Given the description of an element on the screen output the (x, y) to click on. 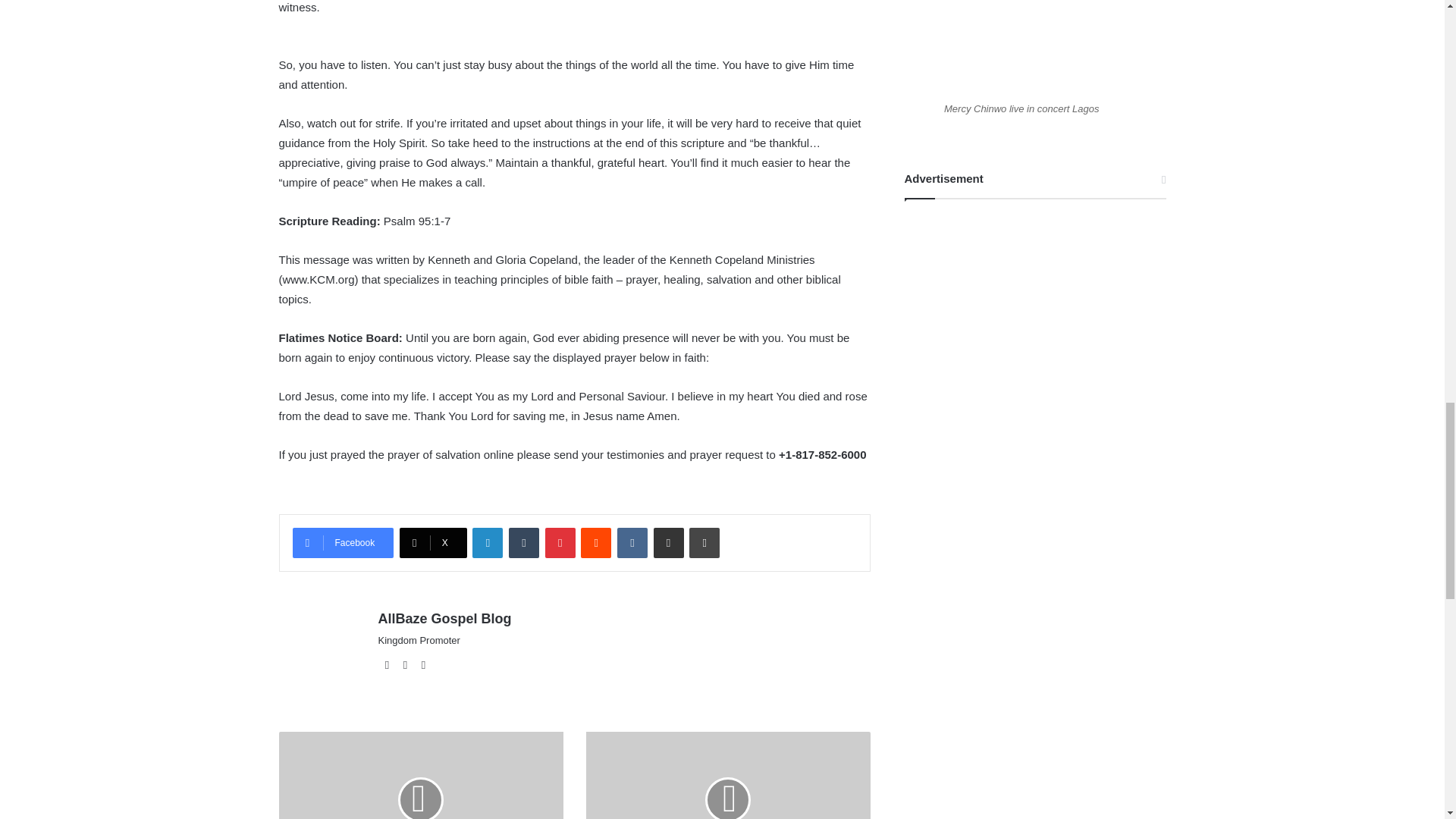
Facebook (343, 542)
Tumblr (523, 542)
LinkedIn (486, 542)
Reddit (595, 542)
VKontakte (632, 542)
Print (703, 542)
X (432, 542)
Pinterest (559, 542)
X (432, 542)
Share via Email (668, 542)
Facebook (343, 542)
LinkedIn (486, 542)
